Given the description of an element on the screen output the (x, y) to click on. 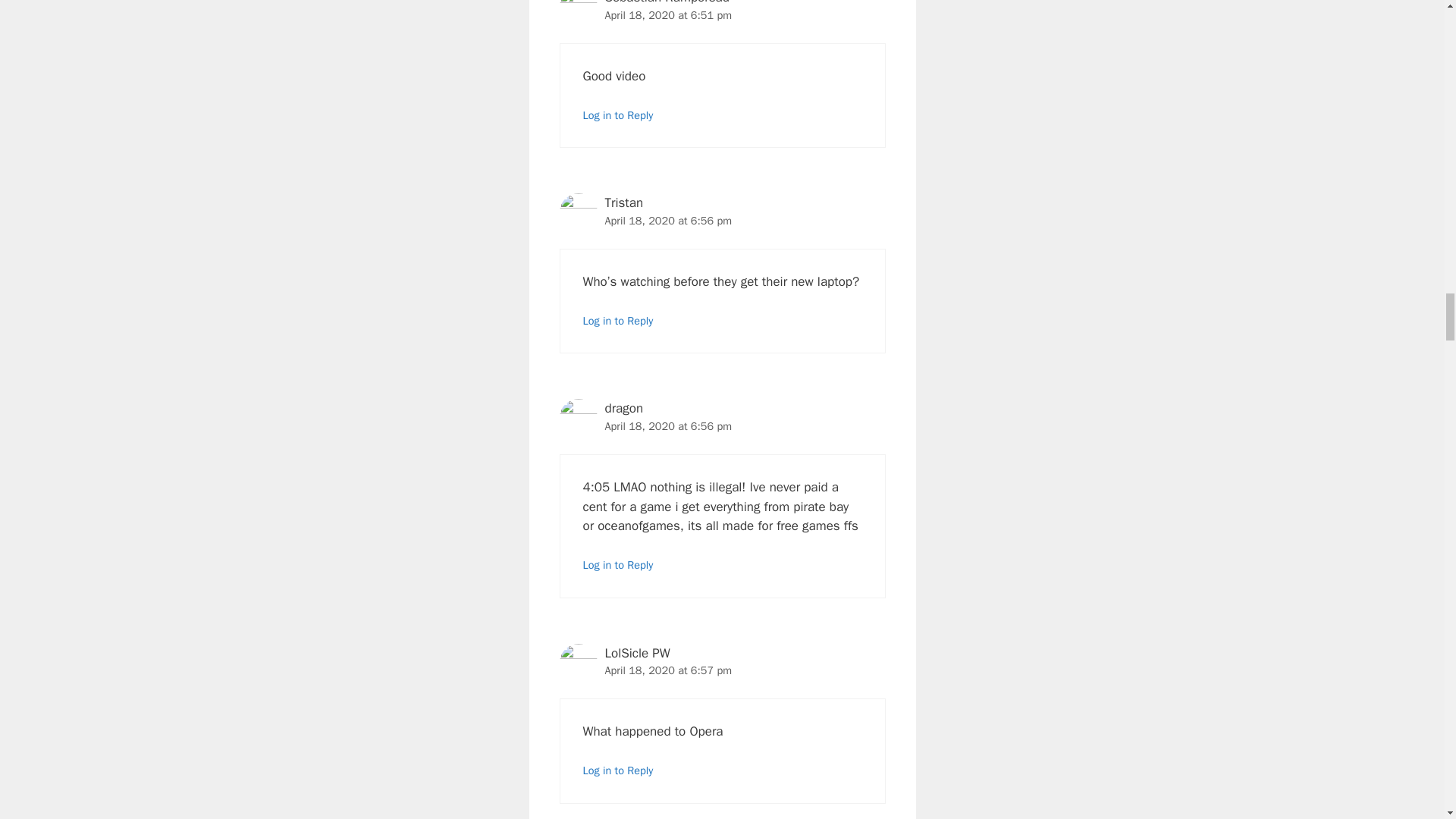
April 18, 2020 at 6:56 pm (668, 220)
Log in to Reply (617, 564)
Log in to Reply (617, 115)
Log in to Reply (617, 320)
April 18, 2020 at 6:57 pm (668, 670)
April 18, 2020 at 6:56 pm (668, 426)
April 18, 2020 at 6:51 pm (668, 15)
